Given the description of an element on the screen output the (x, y) to click on. 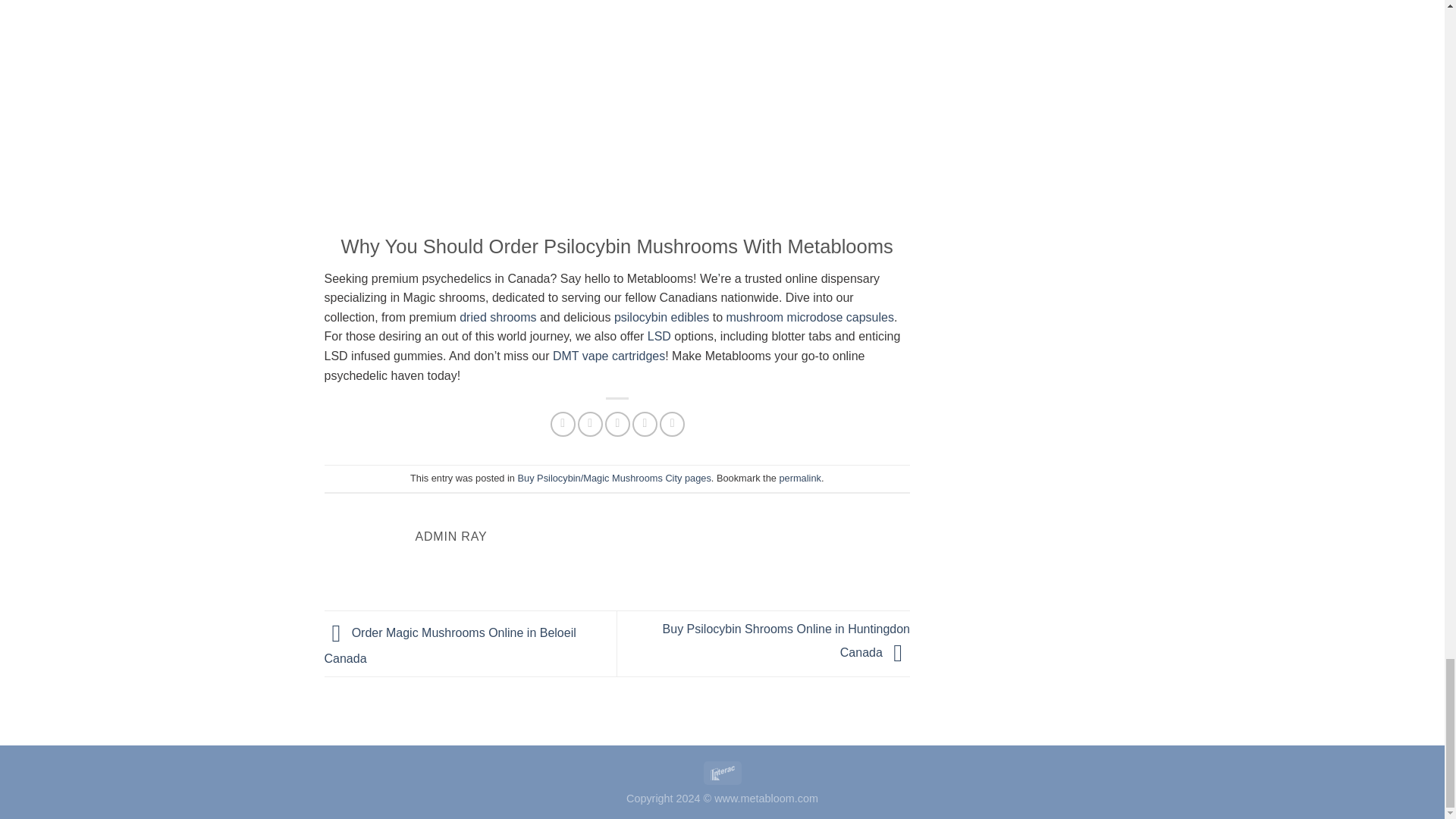
Share on LinkedIn (671, 423)
Pin on Pinterest (644, 423)
Share on Twitter (590, 423)
Email to a Friend (617, 423)
Share on Facebook (562, 423)
